Given the description of an element on the screen output the (x, y) to click on. 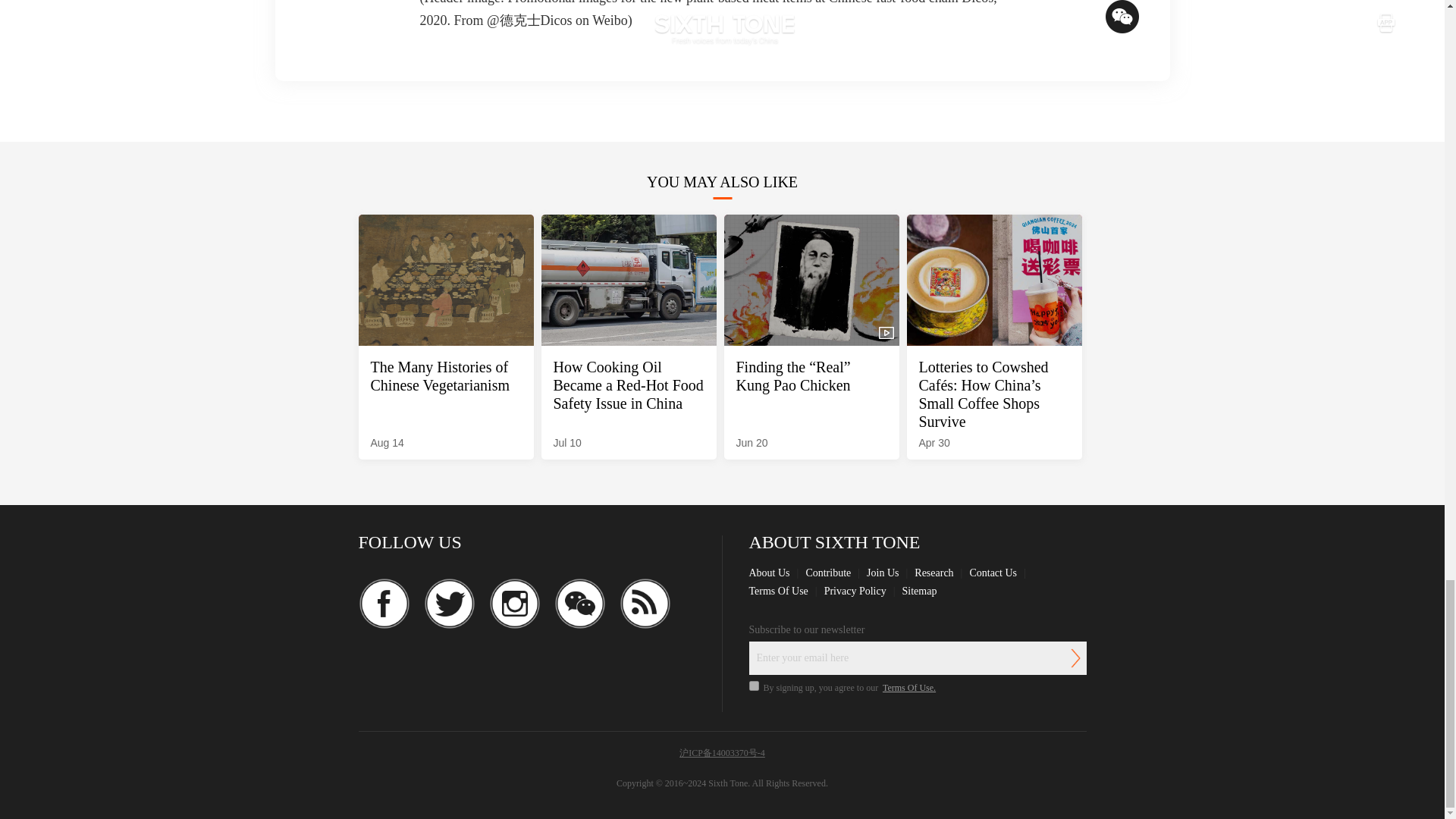
Contribute (827, 572)
About Us (769, 572)
on (753, 685)
